Given the description of an element on the screen output the (x, y) to click on. 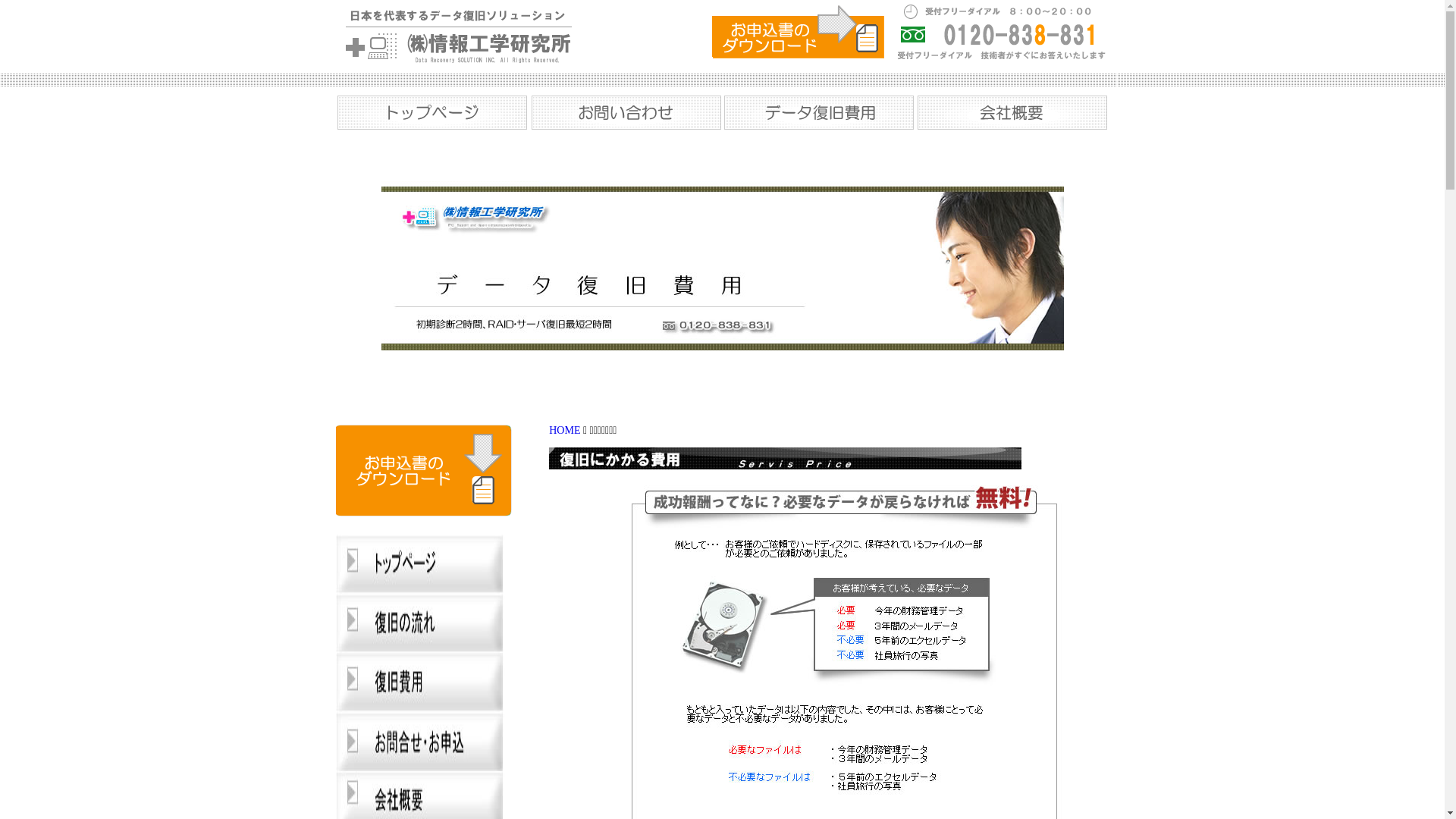
HOME Element type: text (564, 430)
